Given the description of an element on the screen output the (x, y) to click on. 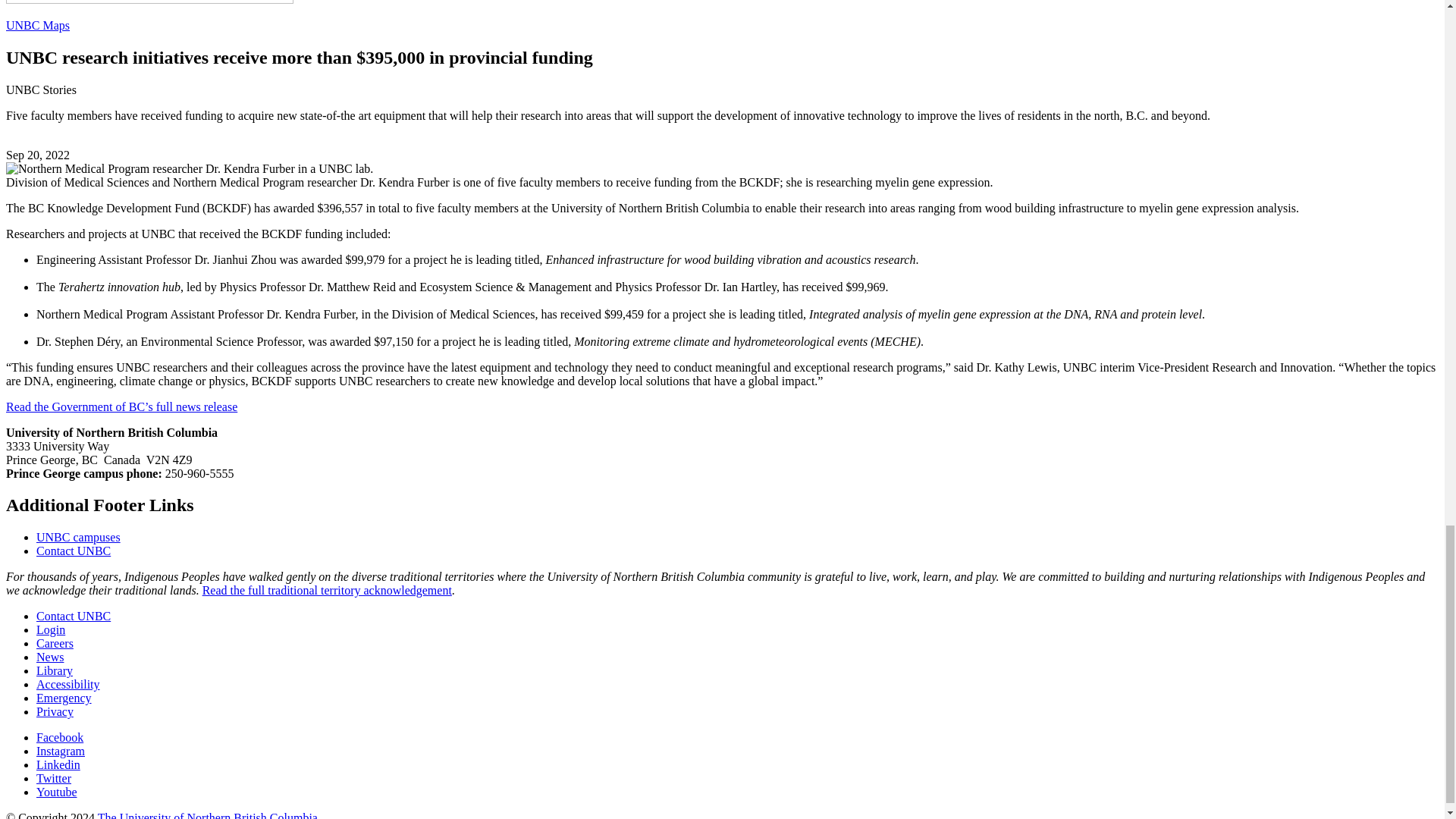
Follow us on Linkedin (58, 764)
Follow us on Youtube (56, 791)
Follow us on Twitter (53, 778)
Follow us on Facebook (59, 737)
Follow us on Instagram (60, 750)
